Given the description of an element on the screen output the (x, y) to click on. 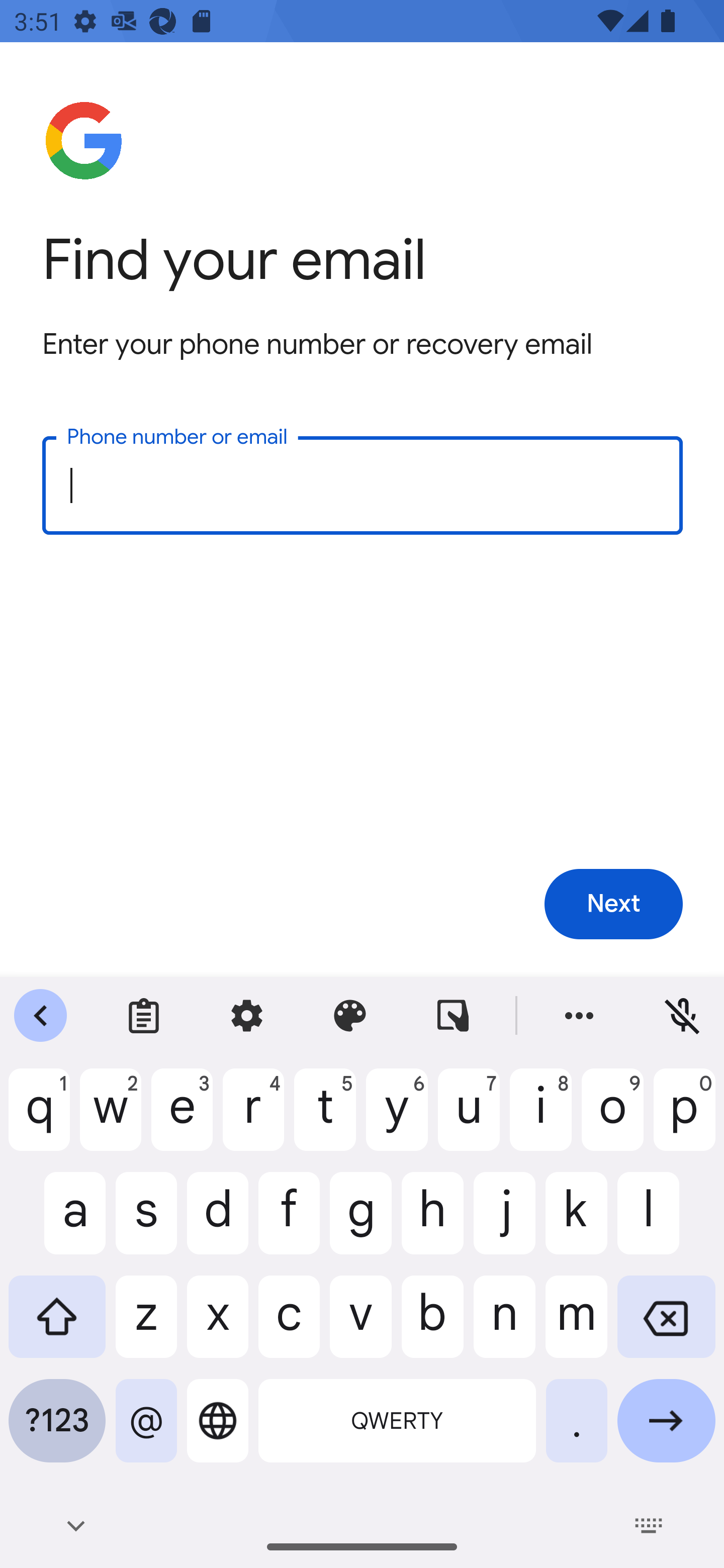
Next (613, 904)
